Given the description of an element on the screen output the (x, y) to click on. 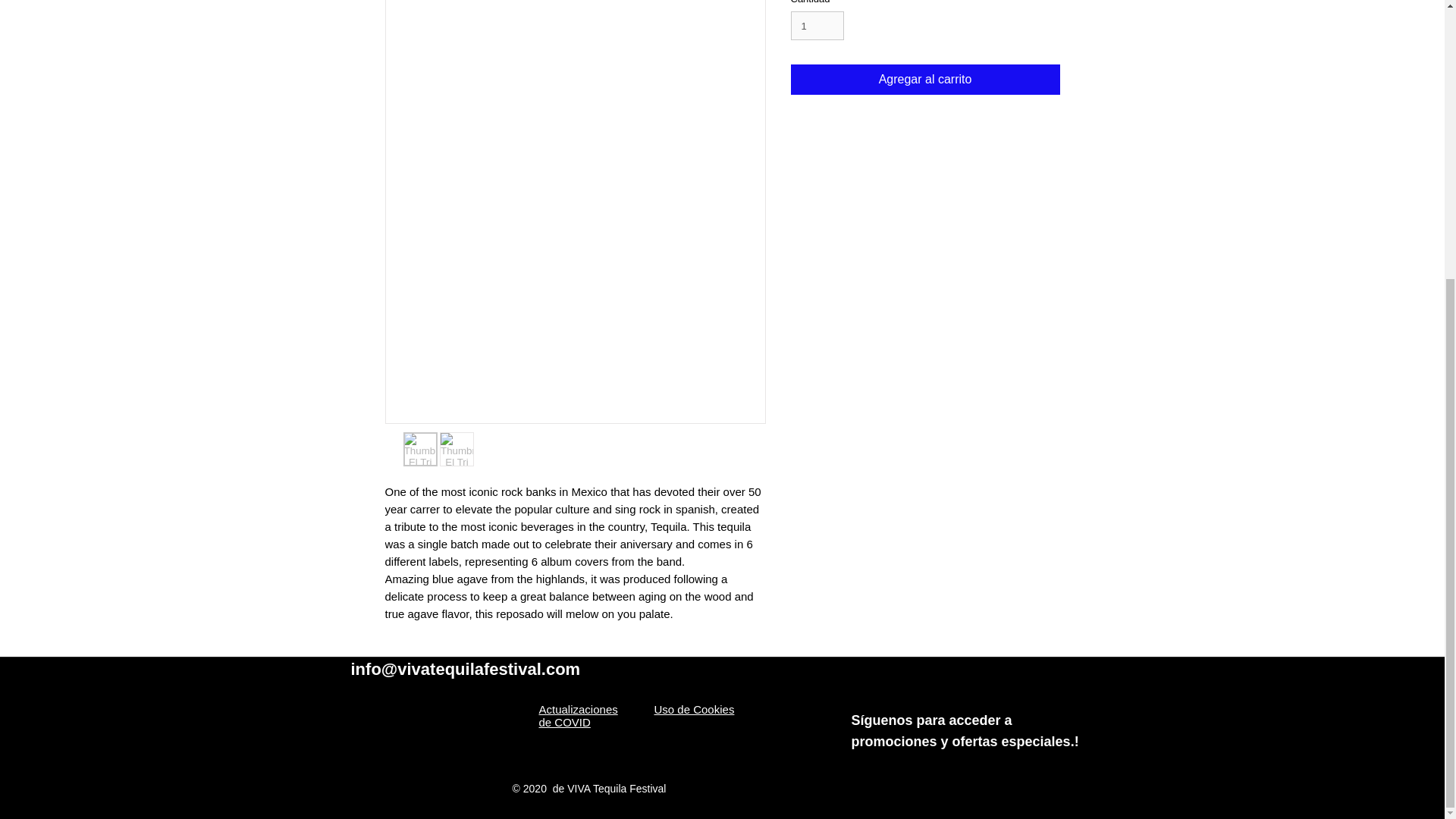
1 (817, 25)
Agregar al carrito (924, 79)
Actualizaciones de COVID (577, 715)
Uso de Cookies (693, 708)
